Given the description of an element on the screen output the (x, y) to click on. 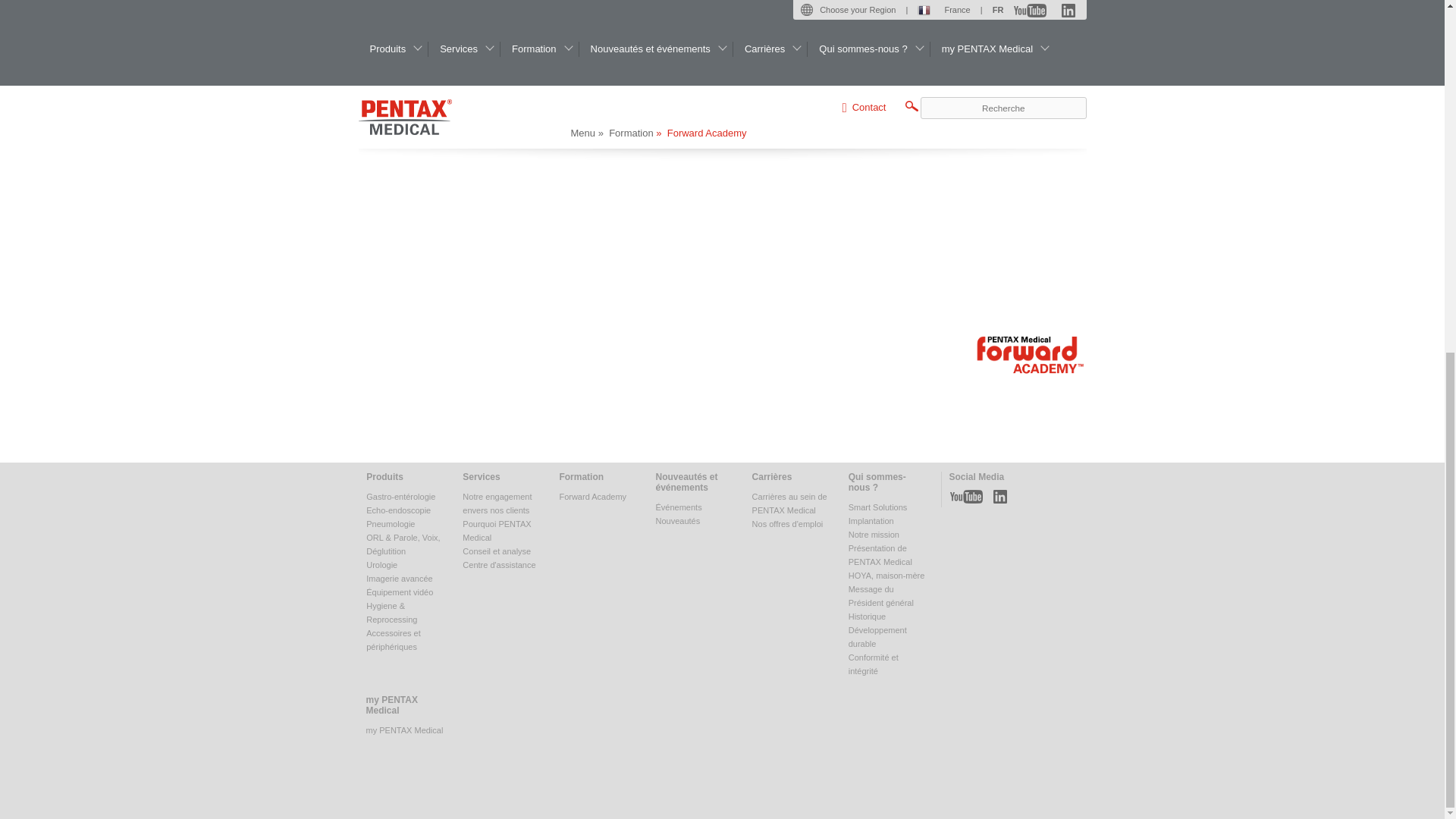
Notre engagement envers nos clients (497, 503)
Echo-endoscopie (398, 510)
Conseil et analyse (497, 551)
Urologie (381, 564)
Pourquoi PENTAX Medical (497, 530)
Centre d'assistance (499, 564)
YouTube video player (828, 179)
Nos offres d'emploi (788, 523)
Pneumologie (390, 523)
Forward Academy (592, 496)
